Given the description of an element on the screen output the (x, y) to click on. 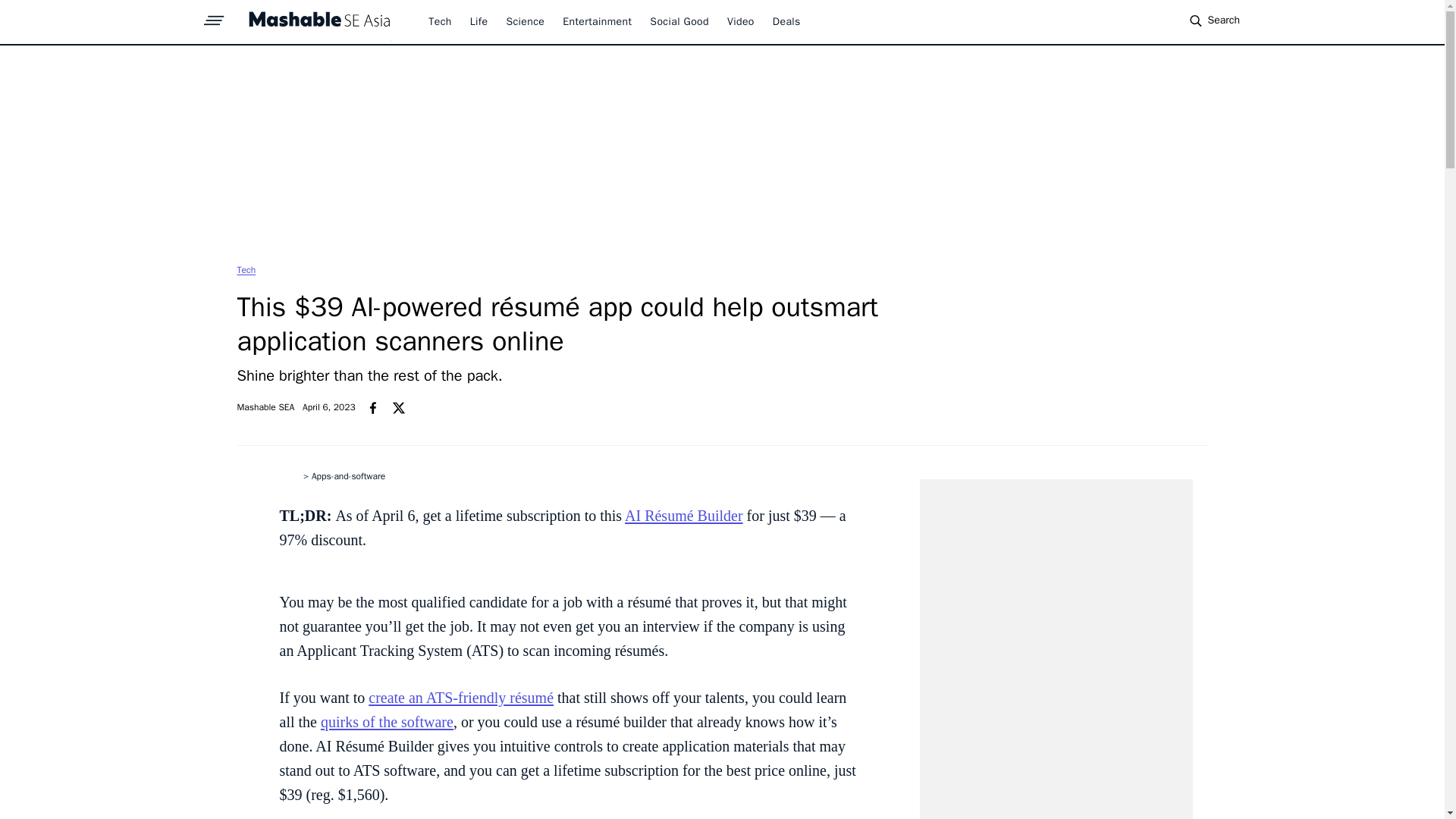
Science (524, 21)
sprite-hamburger (213, 16)
Tech (439, 21)
Video (740, 21)
Social Good (679, 21)
Entertainment (596, 21)
Tech (245, 269)
quirks of the software (386, 721)
Life (478, 21)
Deals (786, 21)
